Given the description of an element on the screen output the (x, y) to click on. 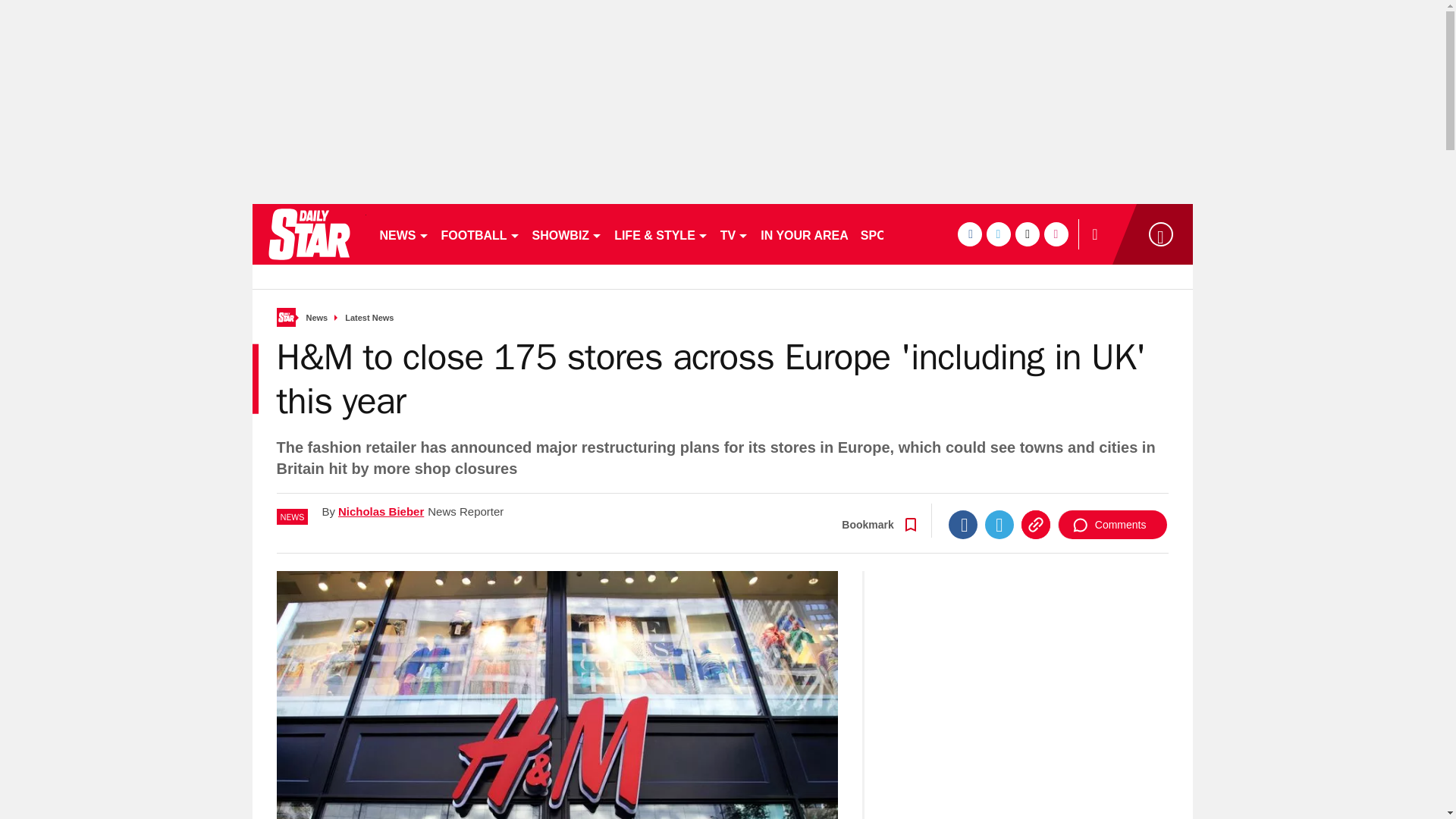
Comments (1112, 524)
dailystar (308, 233)
NEWS (402, 233)
Facebook (962, 524)
facebook (968, 233)
tiktok (1026, 233)
instagram (1055, 233)
Twitter (999, 524)
SHOWBIZ (566, 233)
twitter (997, 233)
